Given the description of an element on the screen output the (x, y) to click on. 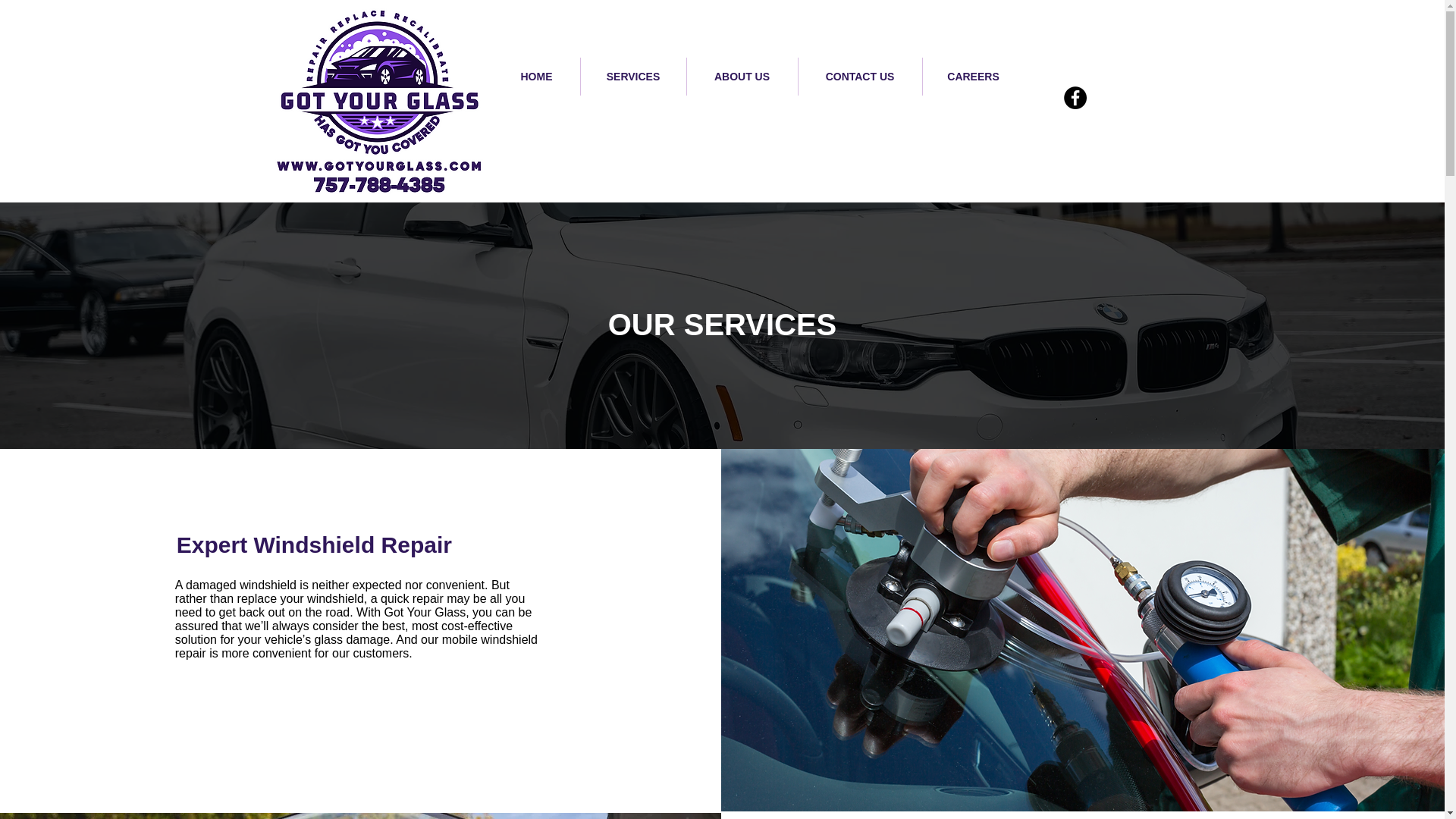
SERVICES (632, 76)
HOME (536, 76)
CONTACT US (859, 76)
CAREERS (972, 76)
fulllogodark.jpg (377, 100)
